Given the description of an element on the screen output the (x, y) to click on. 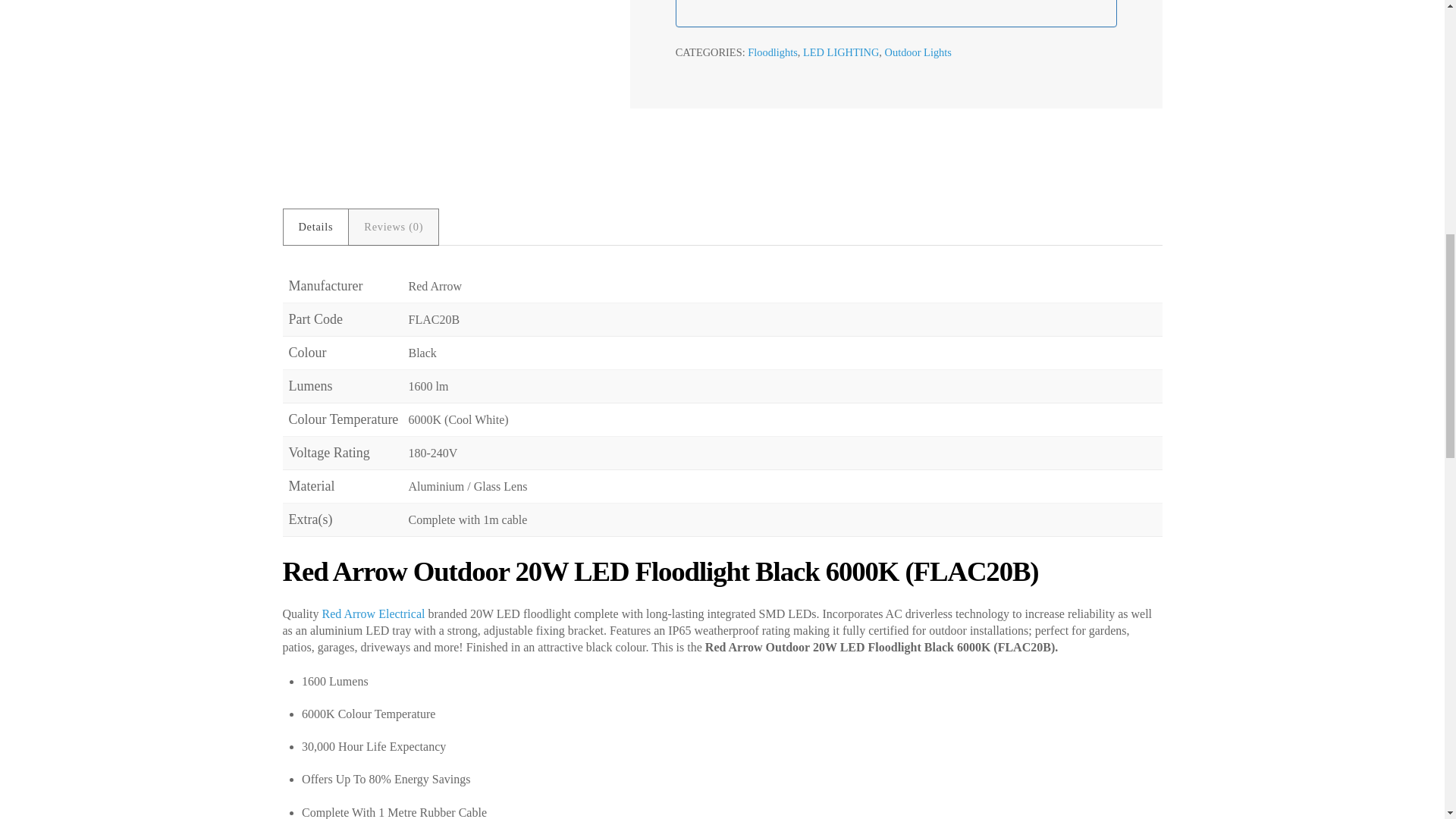
LED LIGHTING (841, 51)
Floodlights (772, 51)
